Given the description of an element on the screen output the (x, y) to click on. 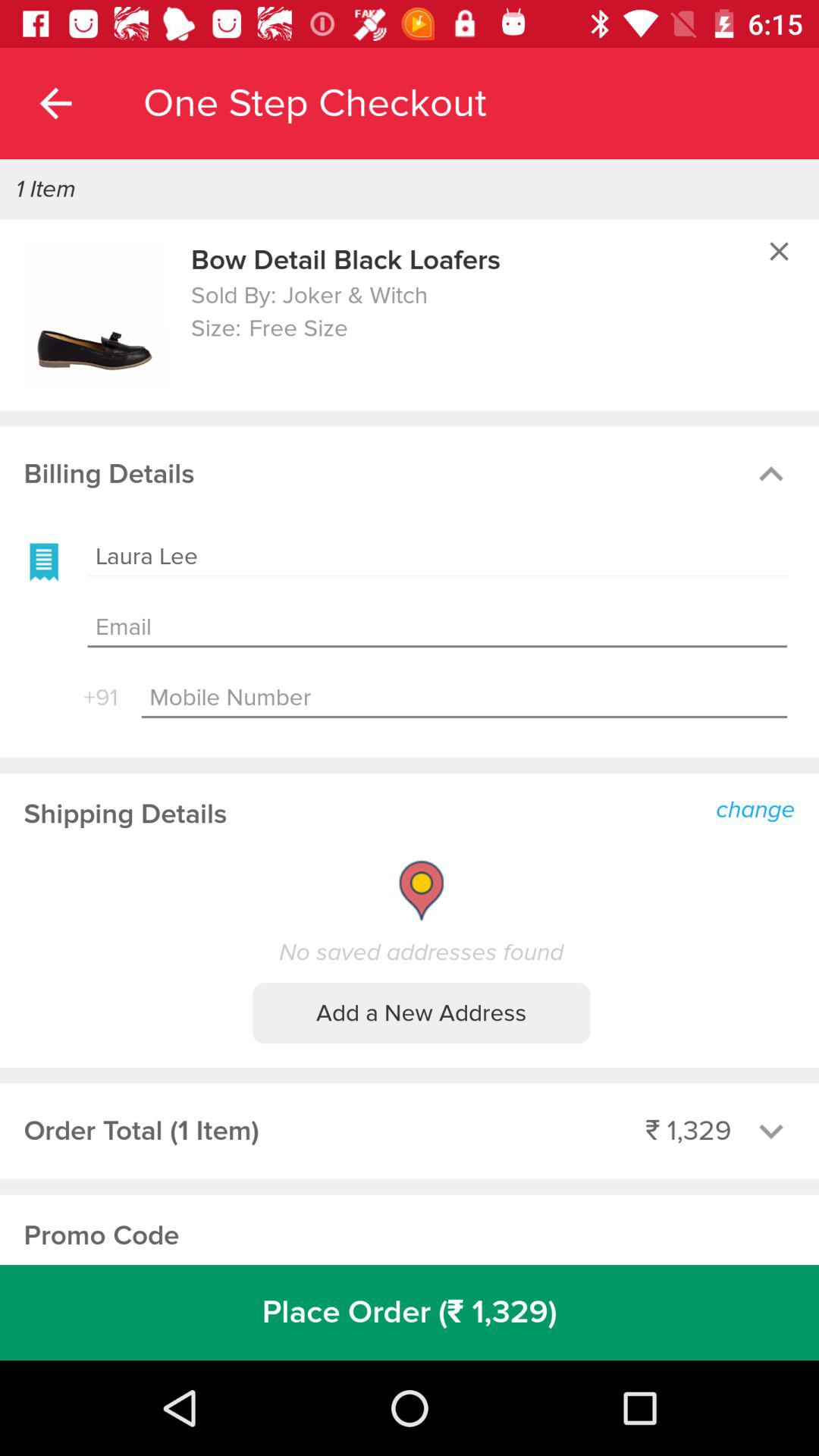
enter email address (437, 627)
